Given the description of an element on the screen output the (x, y) to click on. 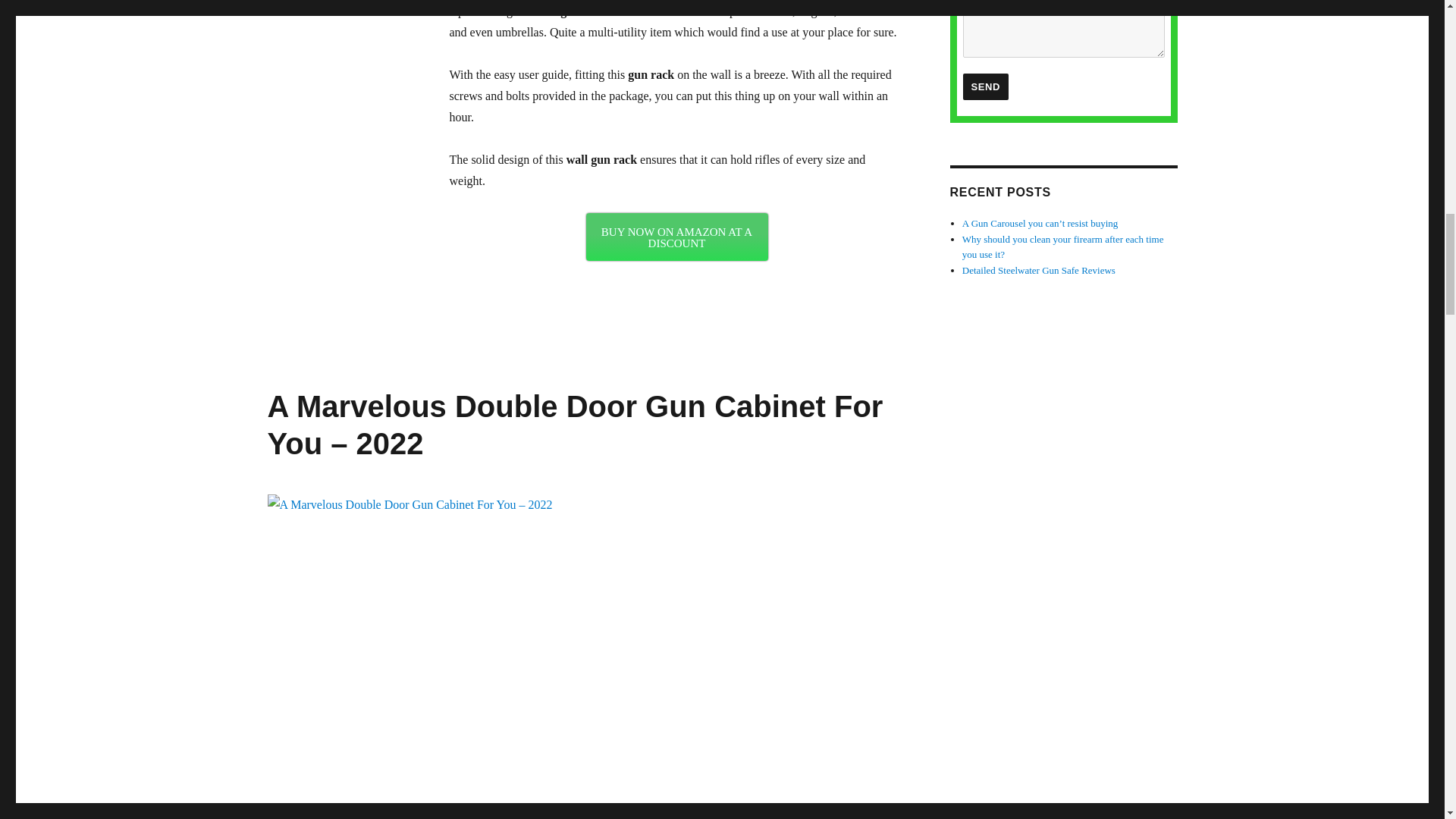
Send (985, 86)
BUY NOW ON AMAZON AT A DISCOUNT (676, 236)
